Given the description of an element on the screen output the (x, y) to click on. 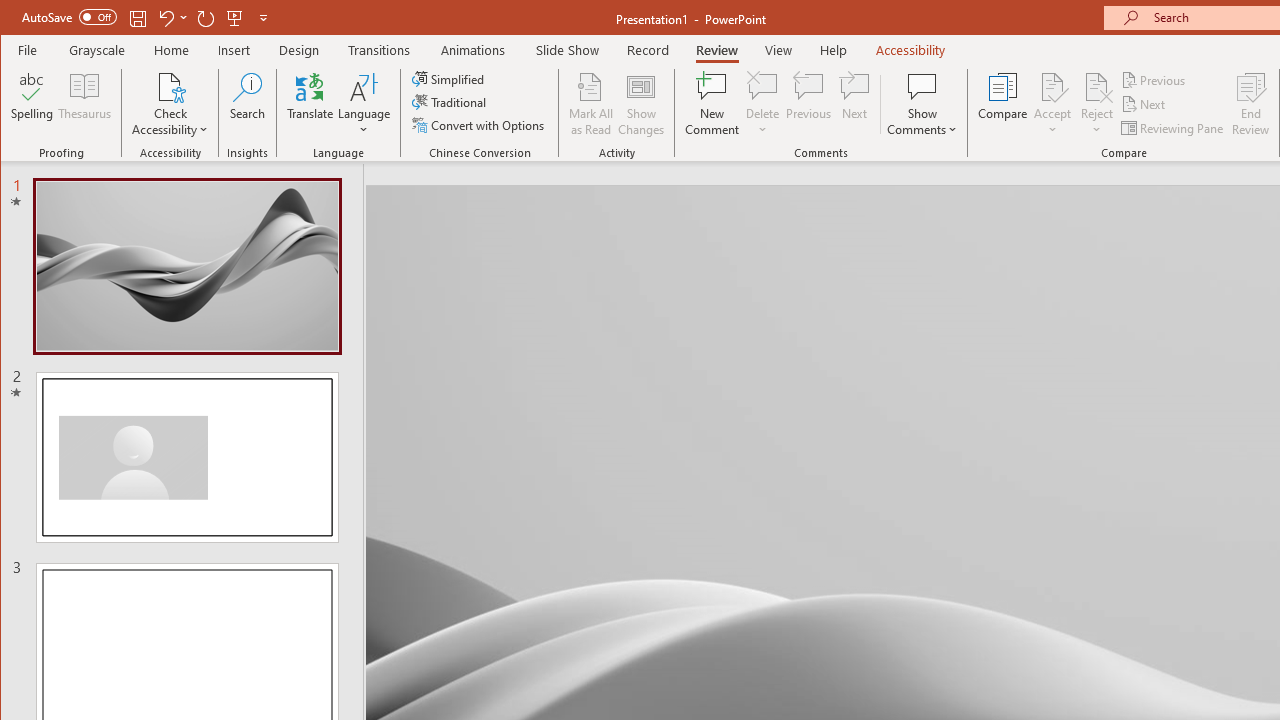
Accept Change (1052, 86)
Compare (1002, 104)
Translate (310, 104)
Thesaurus... (84, 104)
End Review (1251, 104)
New Comment (712, 104)
